Given the description of an element on the screen output the (x, y) to click on. 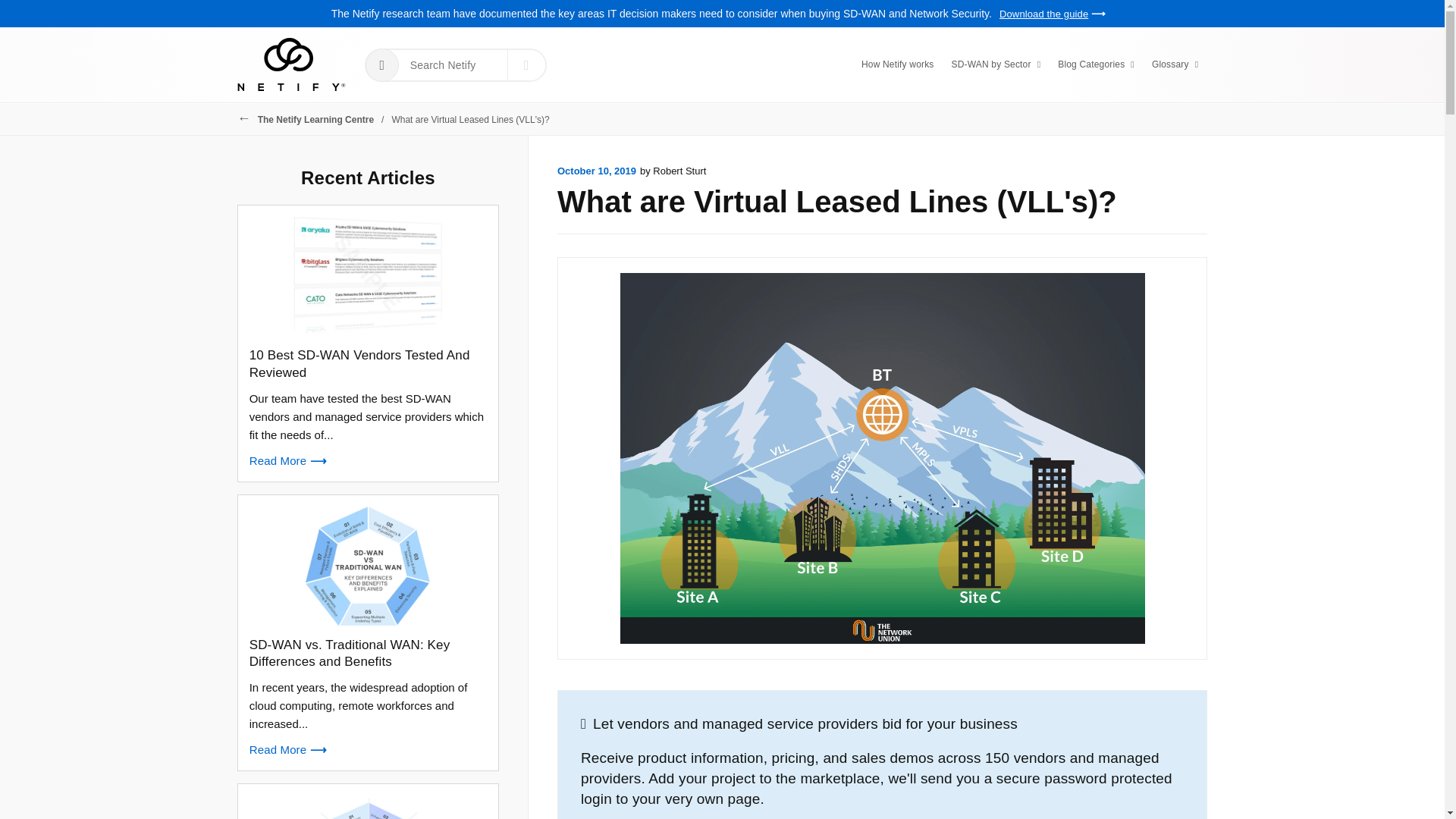
How Netify works (897, 64)
Go to Marketplace (381, 64)
Blog Categories (1095, 64)
Download the guide (1051, 13)
